Given the description of an element on the screen output the (x, y) to click on. 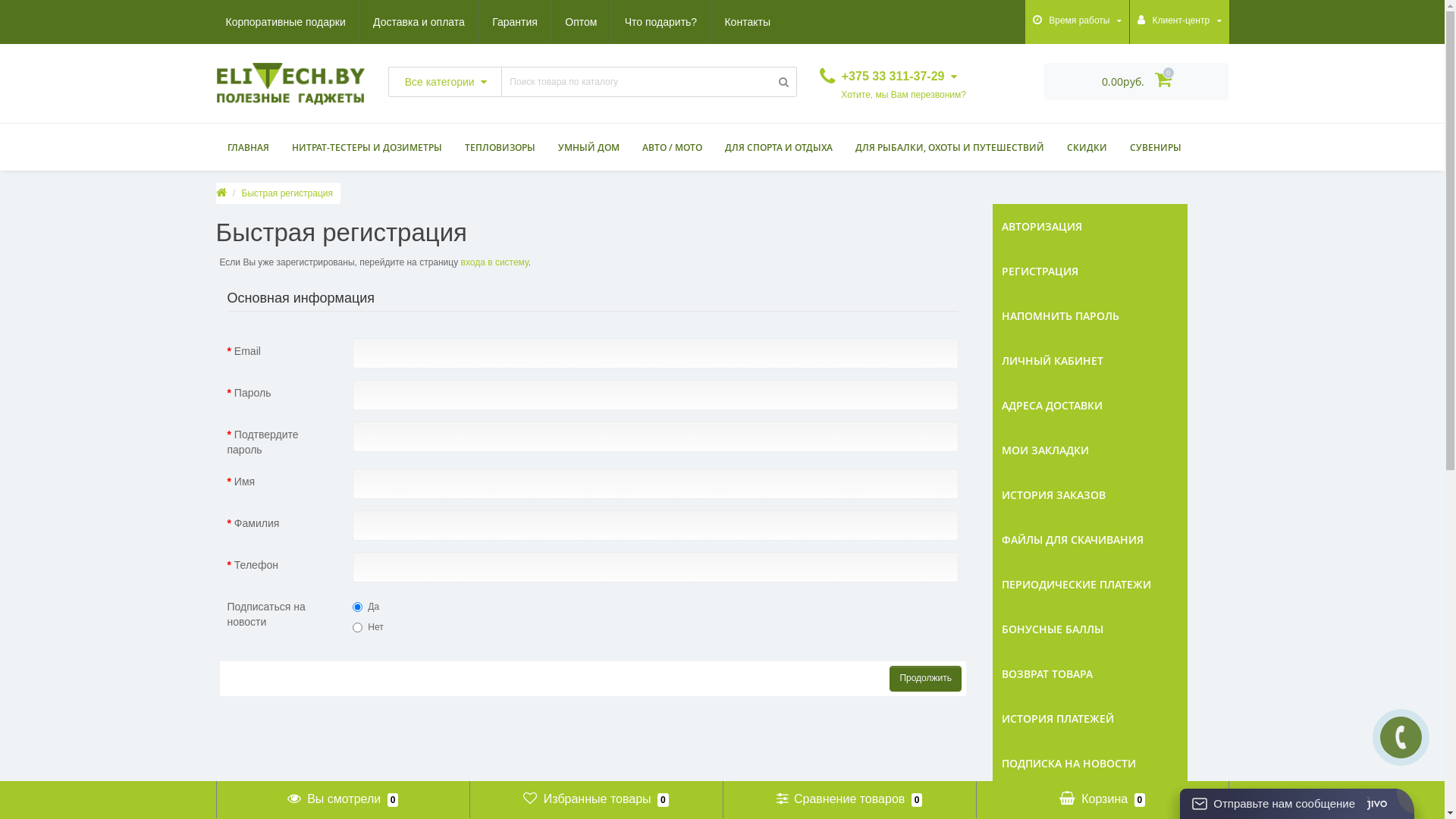
+375 33 311-37-29 Element type: text (888, 75)
